Given the description of an element on the screen output the (x, y) to click on. 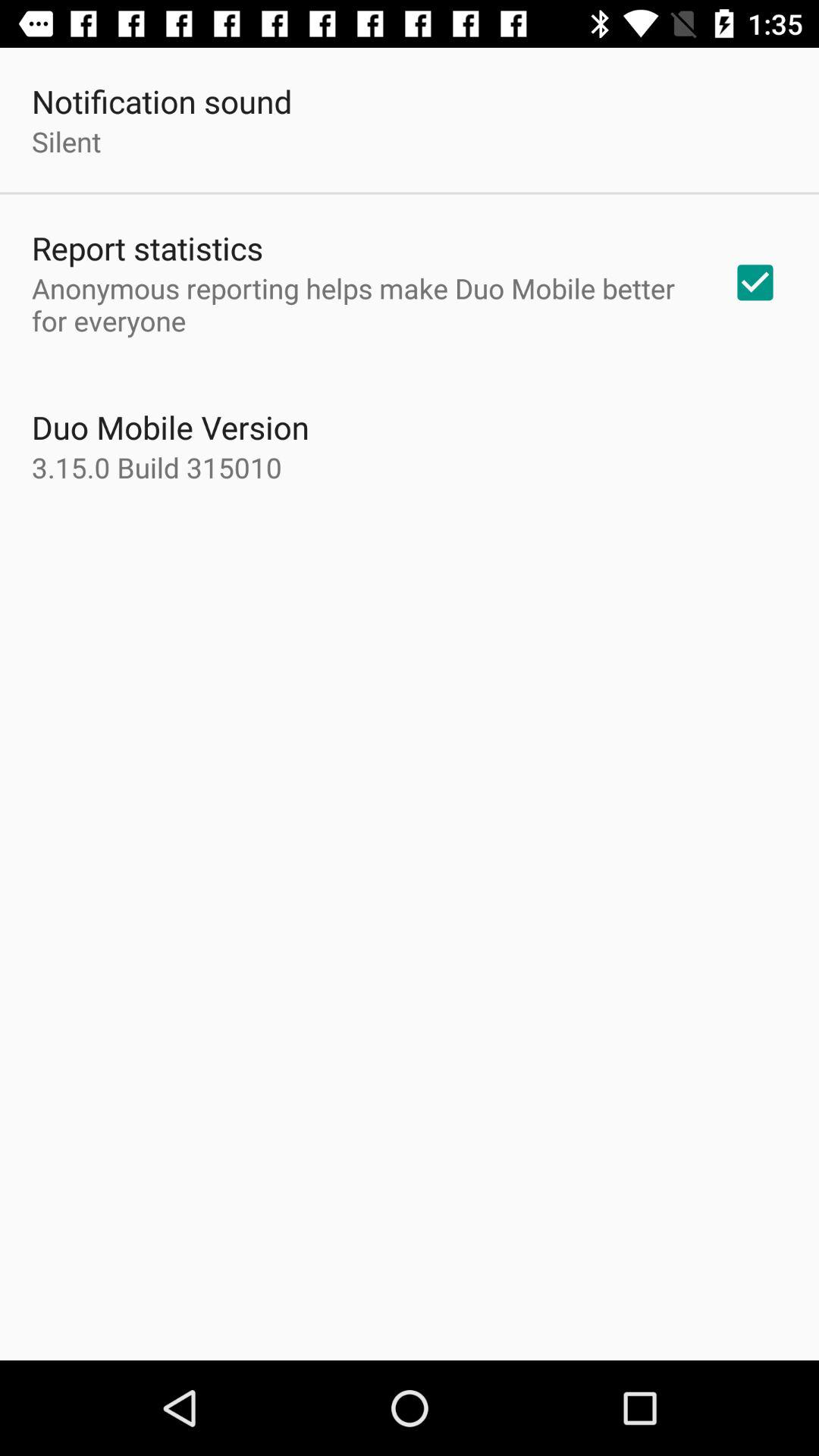
scroll to the notification sound app (161, 100)
